Given the description of an element on the screen output the (x, y) to click on. 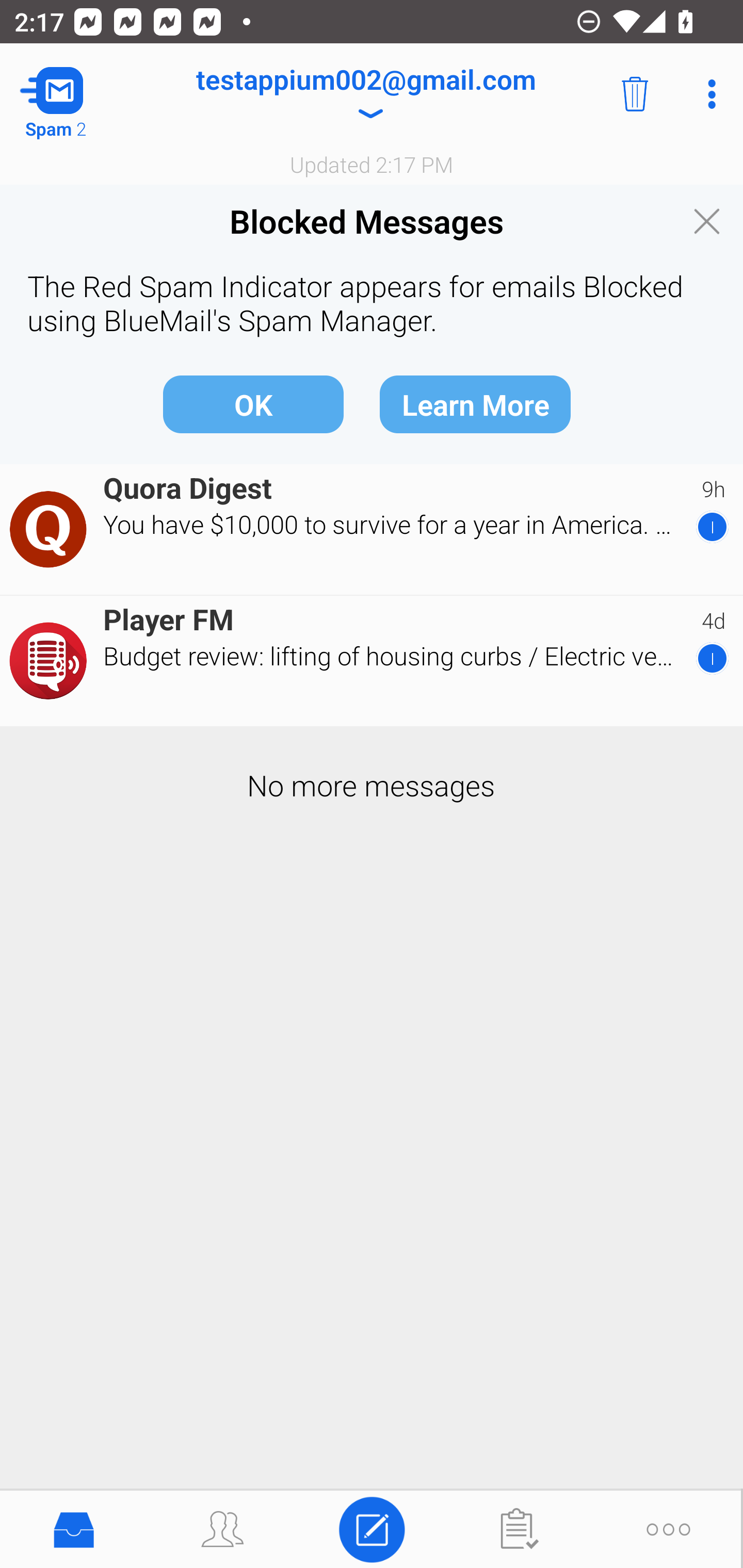
Navigate up (81, 93)
testappium002@gmail.com (365, 93)
Delete All (634, 93)
More Options (706, 93)
Updated 2:17 PM (371, 164)
OK (252, 403)
Learn More (474, 403)
Contact Details (50, 529)
Contact Details (50, 660)
